Given the description of an element on the screen output the (x, y) to click on. 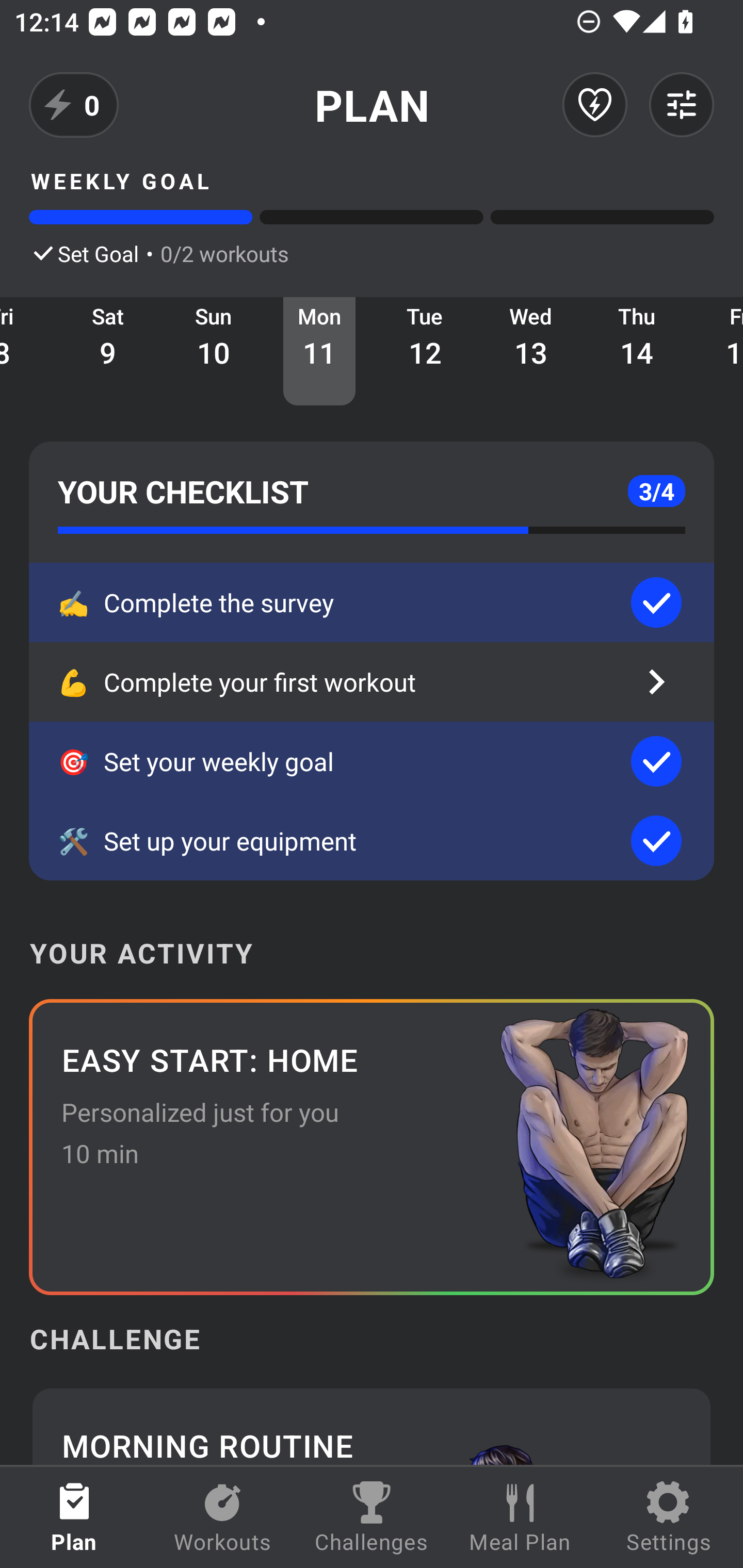
0 (73, 104)
Sat 9 (107, 351)
Sun 10 (213, 351)
Mon 11 (319, 351)
Tue 12 (425, 351)
Wed 13 (530, 351)
Thu 14 (636, 351)
💪 Complete your first workout (371, 681)
EASY START: HOME Personalized just for you 10 min (371, 1146)
 Workouts  (222, 1517)
 Challenges  (371, 1517)
 Meal Plan  (519, 1517)
 Settings  (668, 1517)
